Given the description of an element on the screen output the (x, y) to click on. 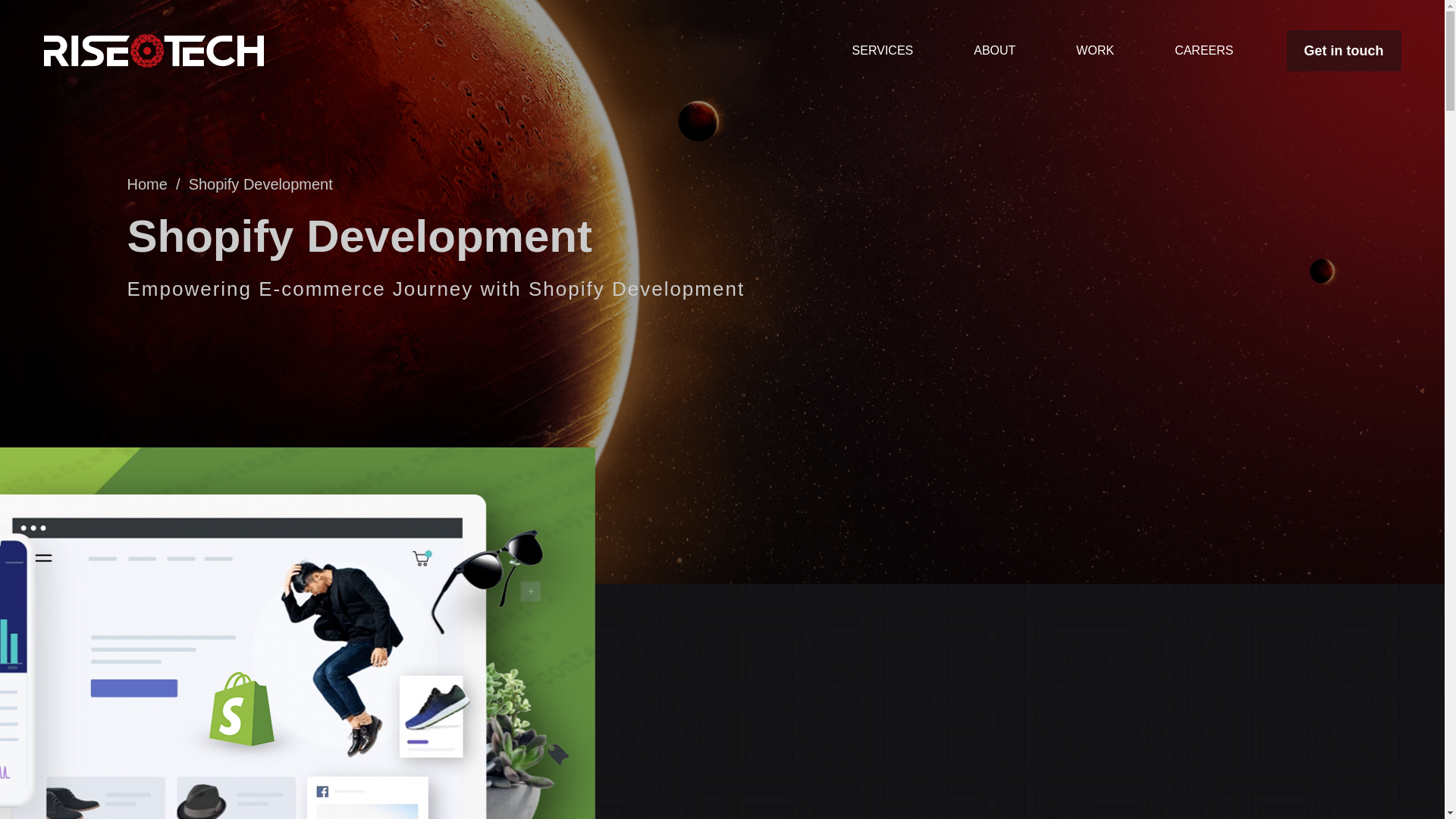
SERVICES (882, 50)
Home (147, 184)
WORK (1094, 50)
ABOUT (994, 50)
Get in touch (1342, 50)
CAREERS (1203, 50)
